Given the description of an element on the screen output the (x, y) to click on. 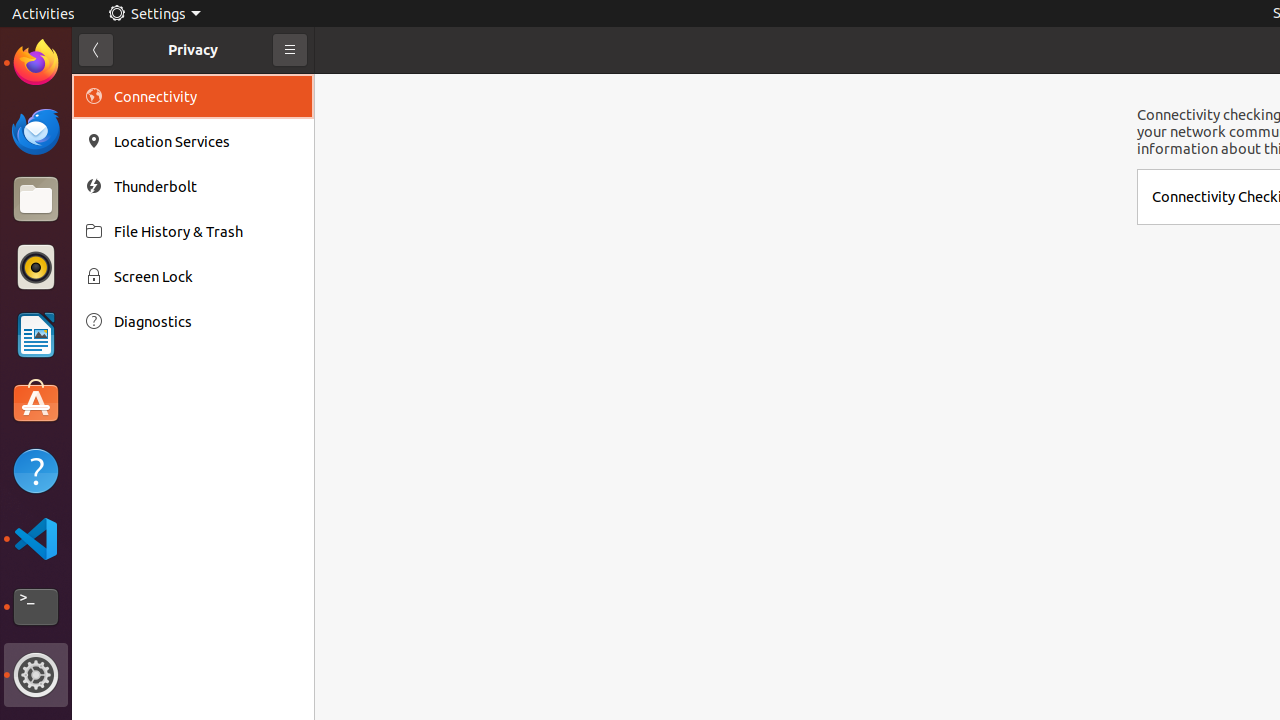
Trash Element type: label (133, 191)
Settings Element type: menu (154, 13)
Terminal Element type: push-button (36, 607)
